Given the description of an element on the screen output the (x, y) to click on. 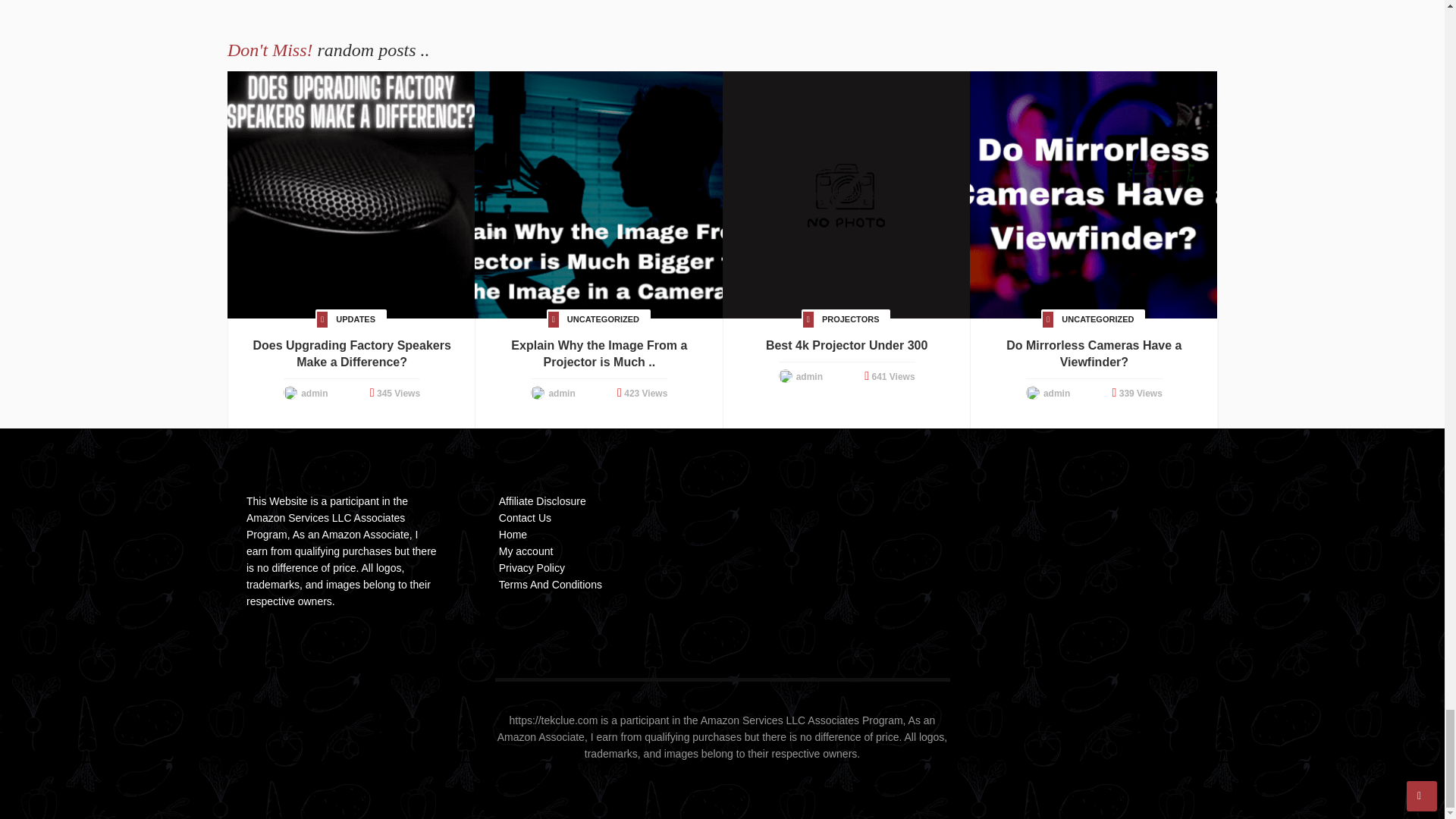
Posts by admin (561, 393)
Posts by admin (314, 393)
Posts by admin (1056, 393)
Posts by admin (809, 376)
